Given the description of an element on the screen output the (x, y) to click on. 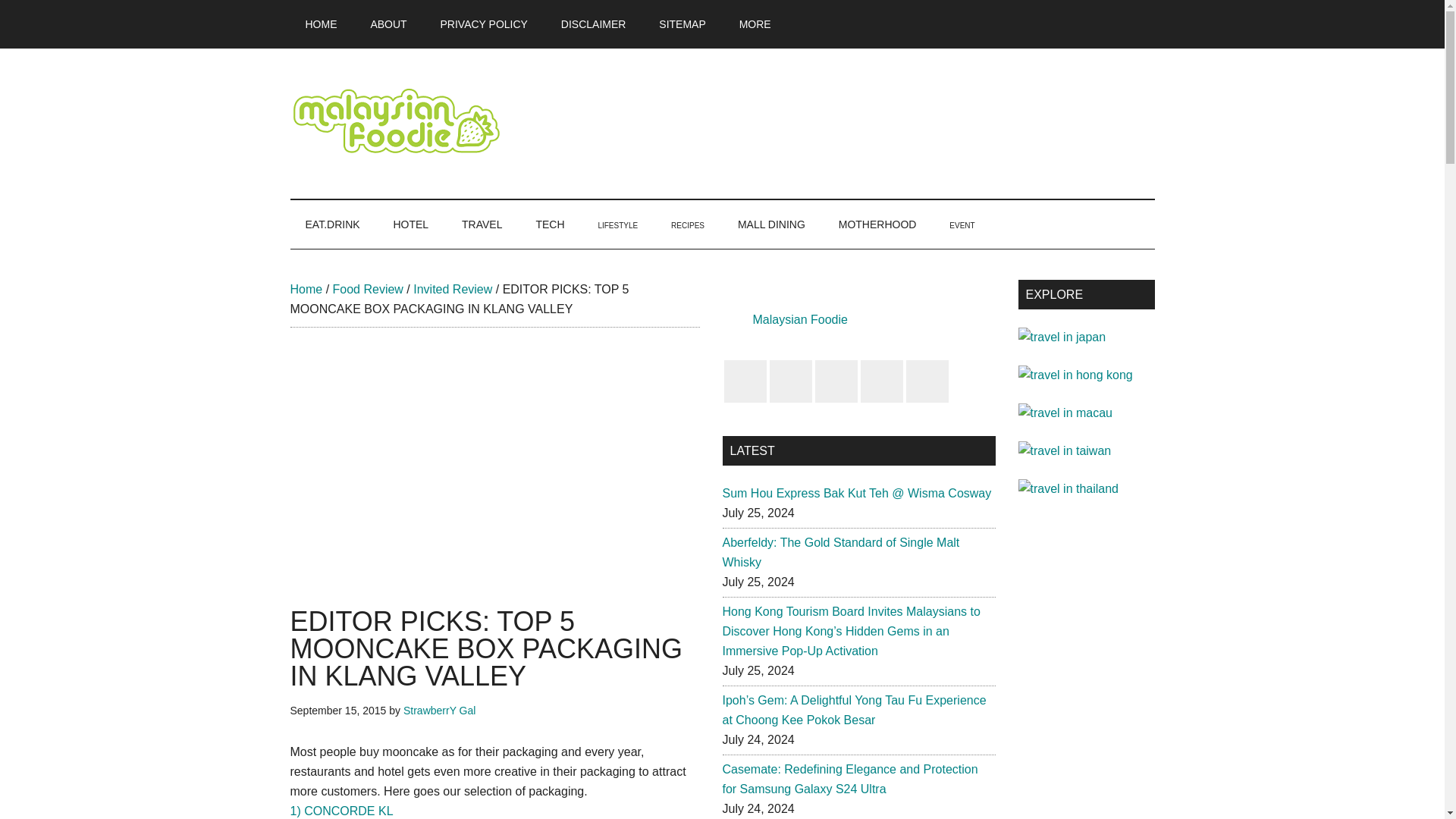
DISCLAIMER (594, 24)
MORE (754, 24)
Advertisement (493, 471)
PRIVACY POLICY (484, 24)
ABOUT (388, 24)
SITEMAP (681, 24)
HOME (320, 24)
EAT.DRINK (331, 223)
